Given the description of an element on the screen output the (x, y) to click on. 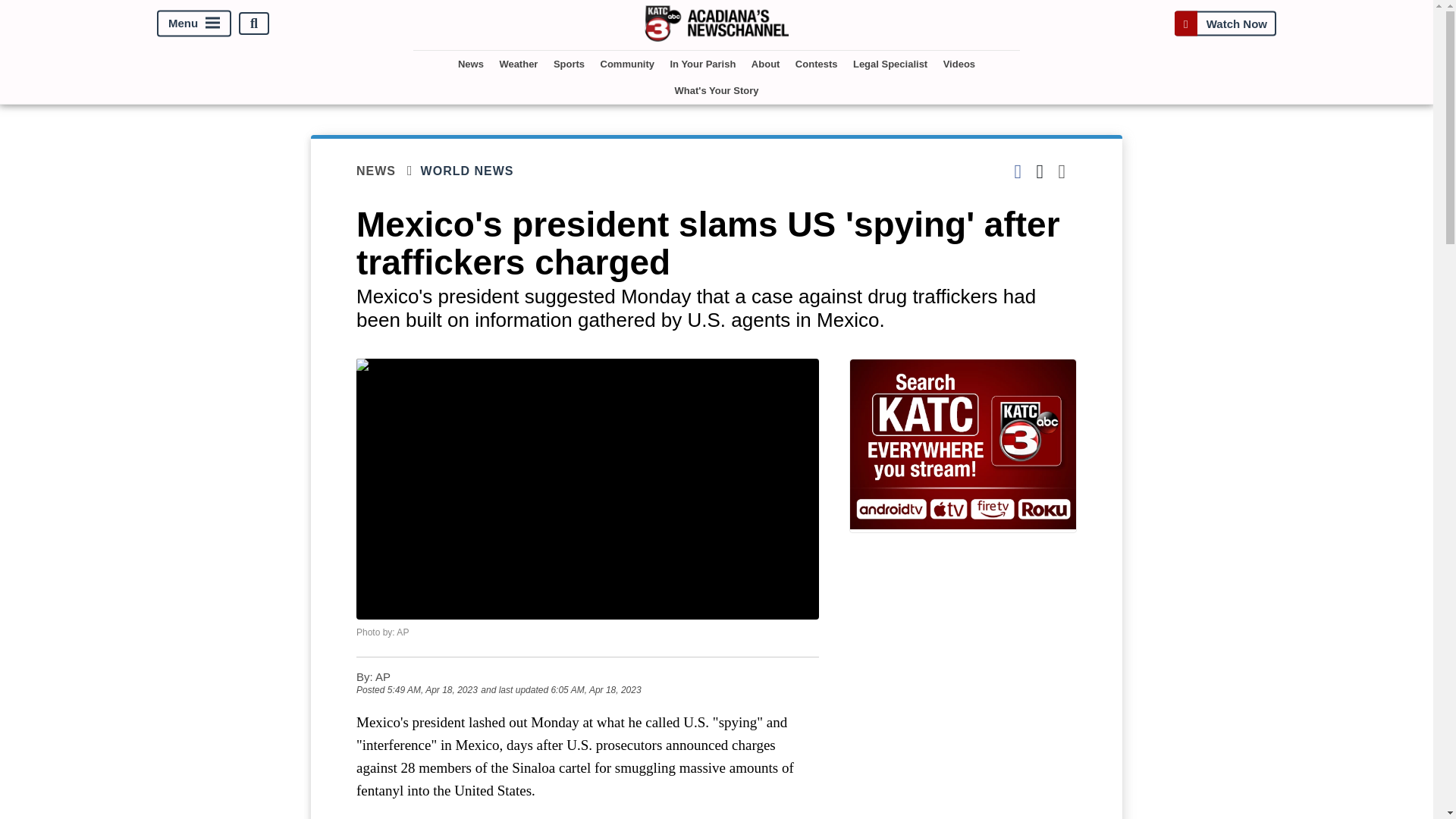
Menu (194, 23)
Watch Now (1224, 23)
